Given the description of an element on the screen output the (x, y) to click on. 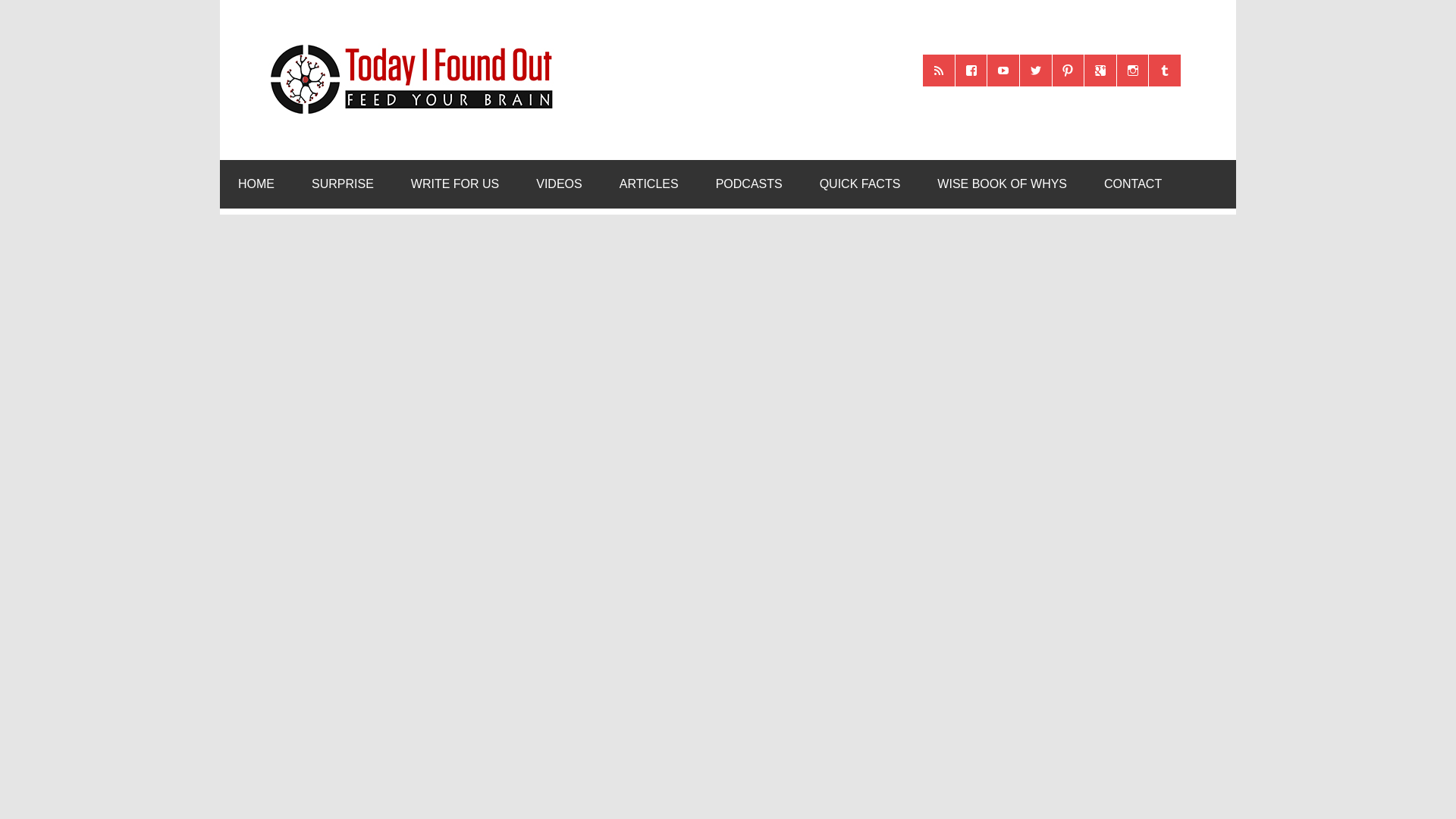
WISE BOOK OF WHYS (1001, 183)
ARTICLES (649, 183)
Today I Found Out (405, 42)
VIDEOS (558, 183)
HOME (255, 183)
SURPRISE (342, 183)
CONTACT (1132, 183)
Interesting Facts (860, 183)
PODCASTS (748, 183)
WRITE FOR US (454, 183)
QUICK FACTS (860, 183)
